Given the description of an element on the screen output the (x, y) to click on. 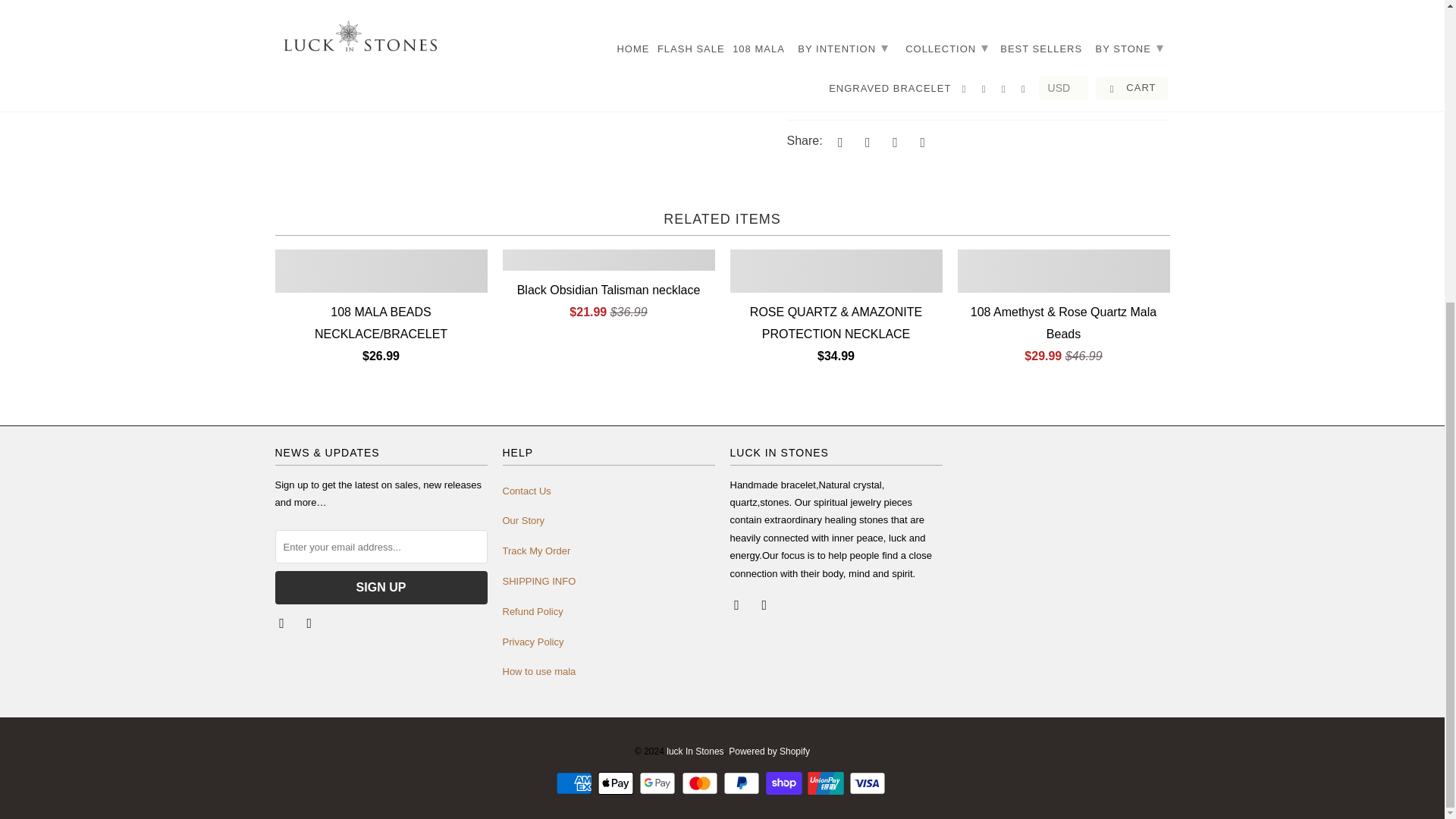
American Express (575, 783)
luck In Stones on Instagram (310, 622)
Share this on Pinterest (892, 141)
luck In Stones on Facebook (737, 604)
Apple Pay (616, 783)
Email this to a friend (920, 141)
Visa (868, 783)
Google Pay (658, 783)
Sign Up (380, 587)
Share this on Facebook (865, 141)
Shop Pay (785, 783)
luck In Stones on Facebook (283, 622)
Share this on Twitter (837, 141)
PayPal (742, 783)
Union Pay (827, 783)
